Given the description of an element on the screen output the (x, y) to click on. 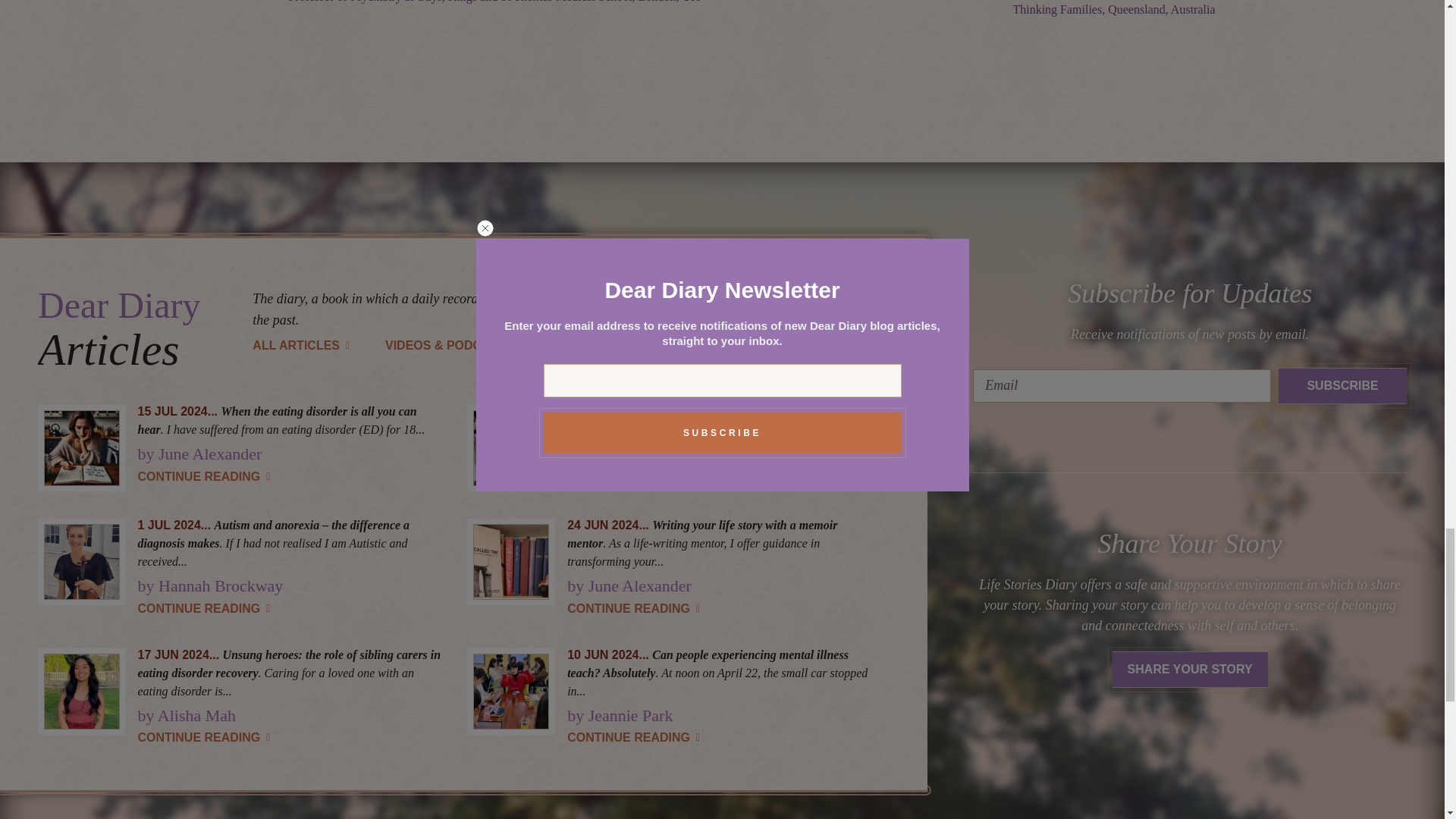
Subscribe (1342, 385)
When the eating disorder is all you can hear (80, 448)
ALL ARTICLES (303, 345)
When the eating disorder is all you can hear (281, 419)
All Articles (303, 345)
Share Your Story (629, 345)
When the eating disorder is all you can hear (207, 476)
CONTINUE READING (207, 476)
SHARE YOUR STORY (629, 345)
